Given the description of an element on the screen output the (x, y) to click on. 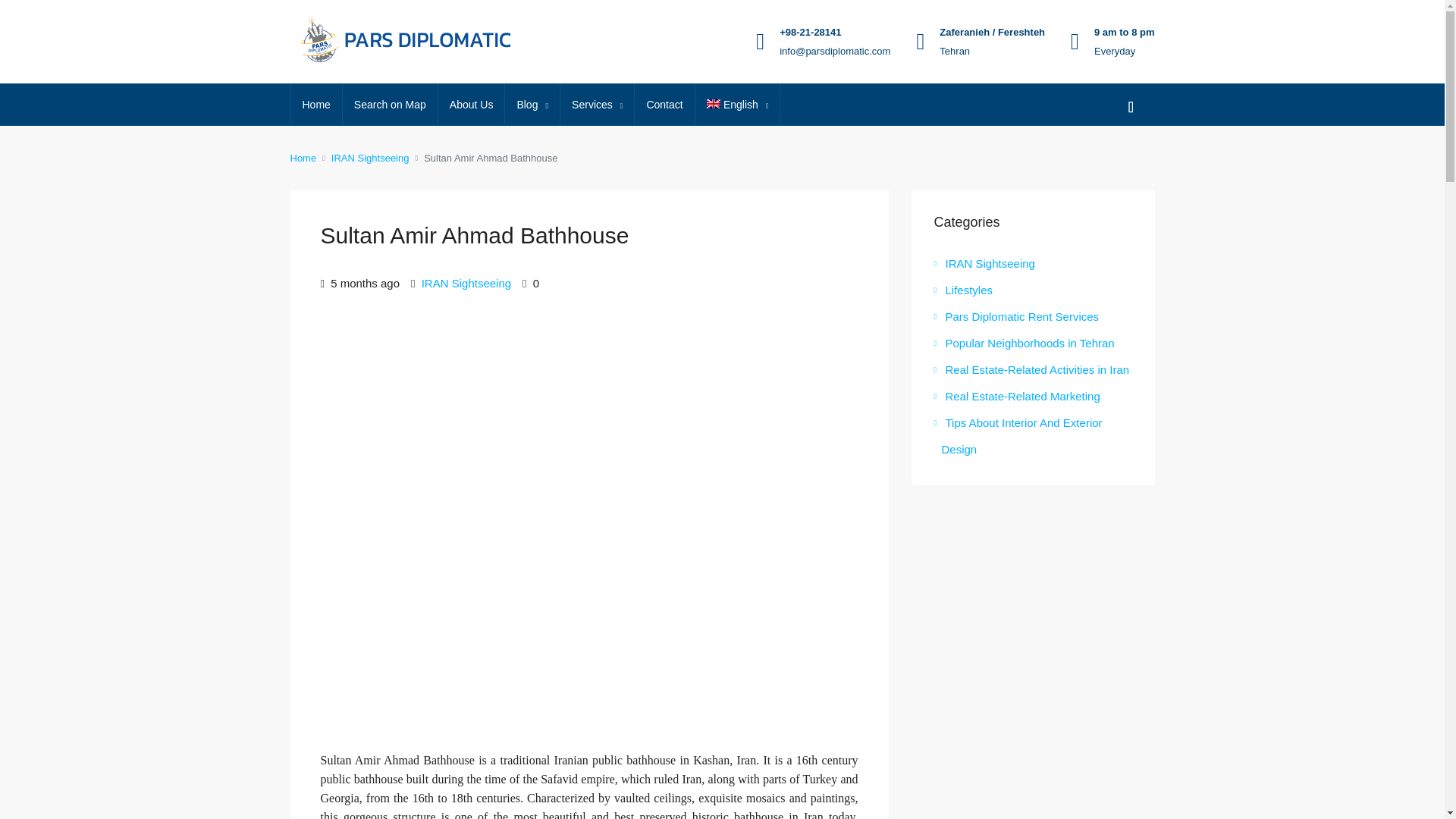
Home (316, 104)
Search on Map (390, 104)
About Us (471, 104)
English (737, 105)
Contact (664, 104)
Blog (532, 105)
Services (596, 105)
English (737, 105)
